Given the description of an element on the screen output the (x, y) to click on. 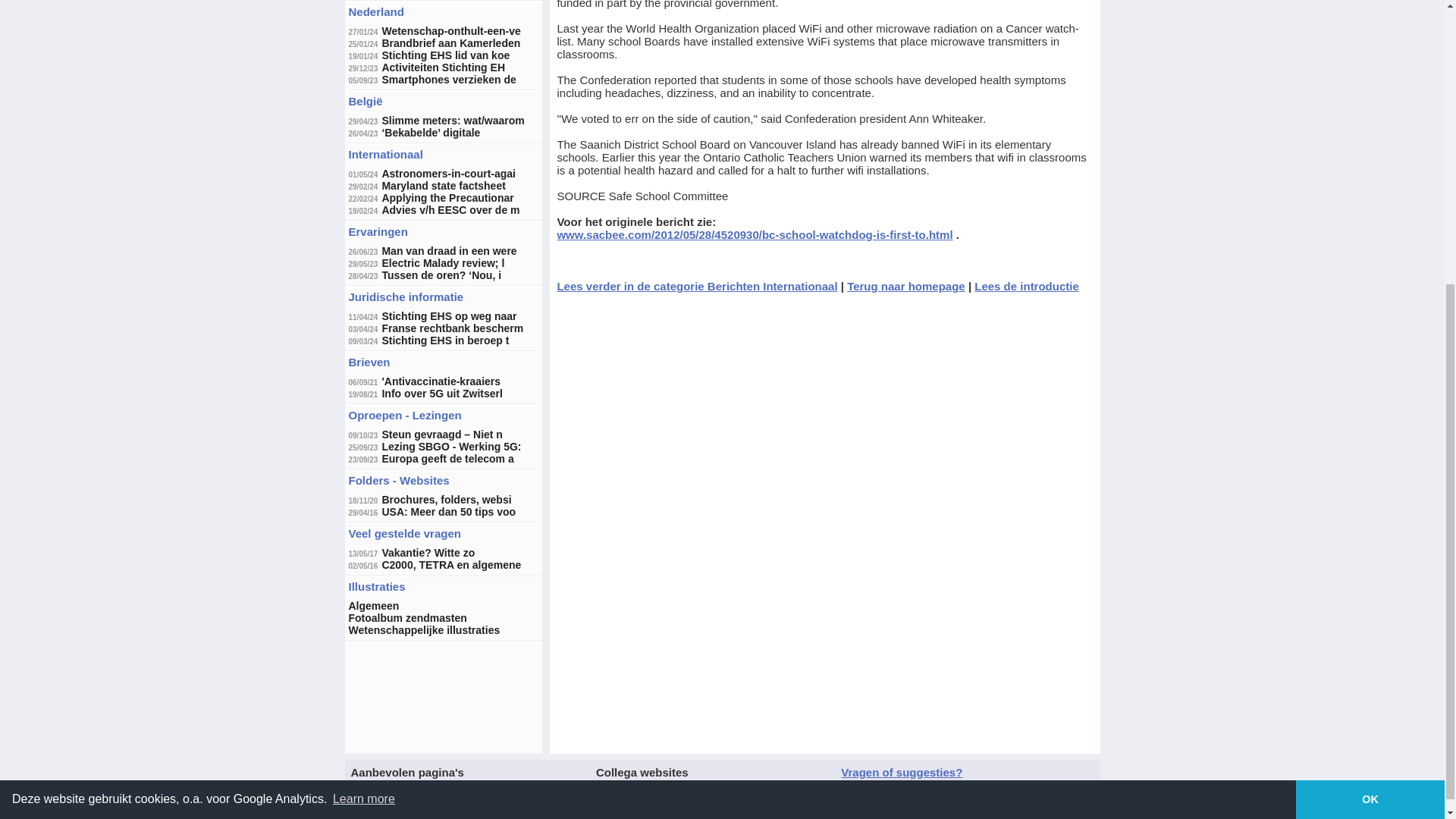
Ga naar overzicht: Berichten Nederland (376, 11)
Lees verder in de categorie Berichten Internationaal (696, 286)
Learn more (363, 363)
Lees de introductie (1026, 286)
Terug naar homepage (906, 286)
